Given the description of an element on the screen output the (x, y) to click on. 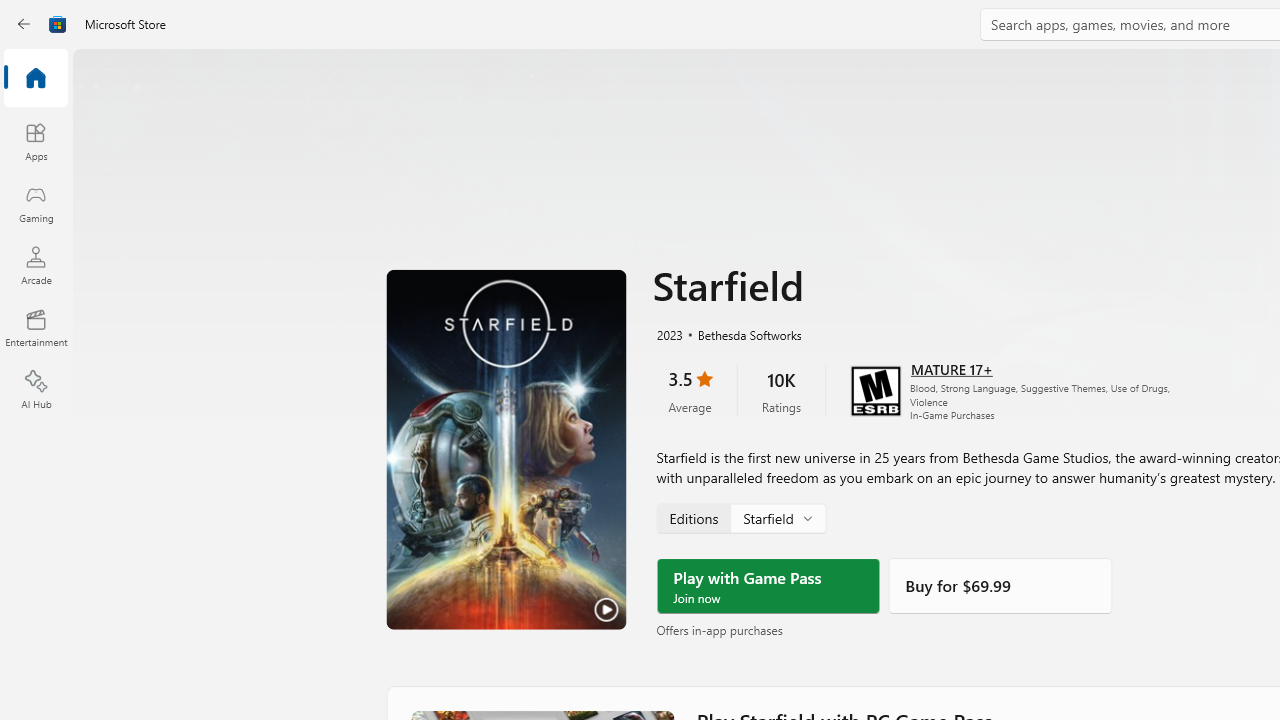
Play with Game Pass (767, 586)
